Given the description of an element on the screen output the (x, y) to click on. 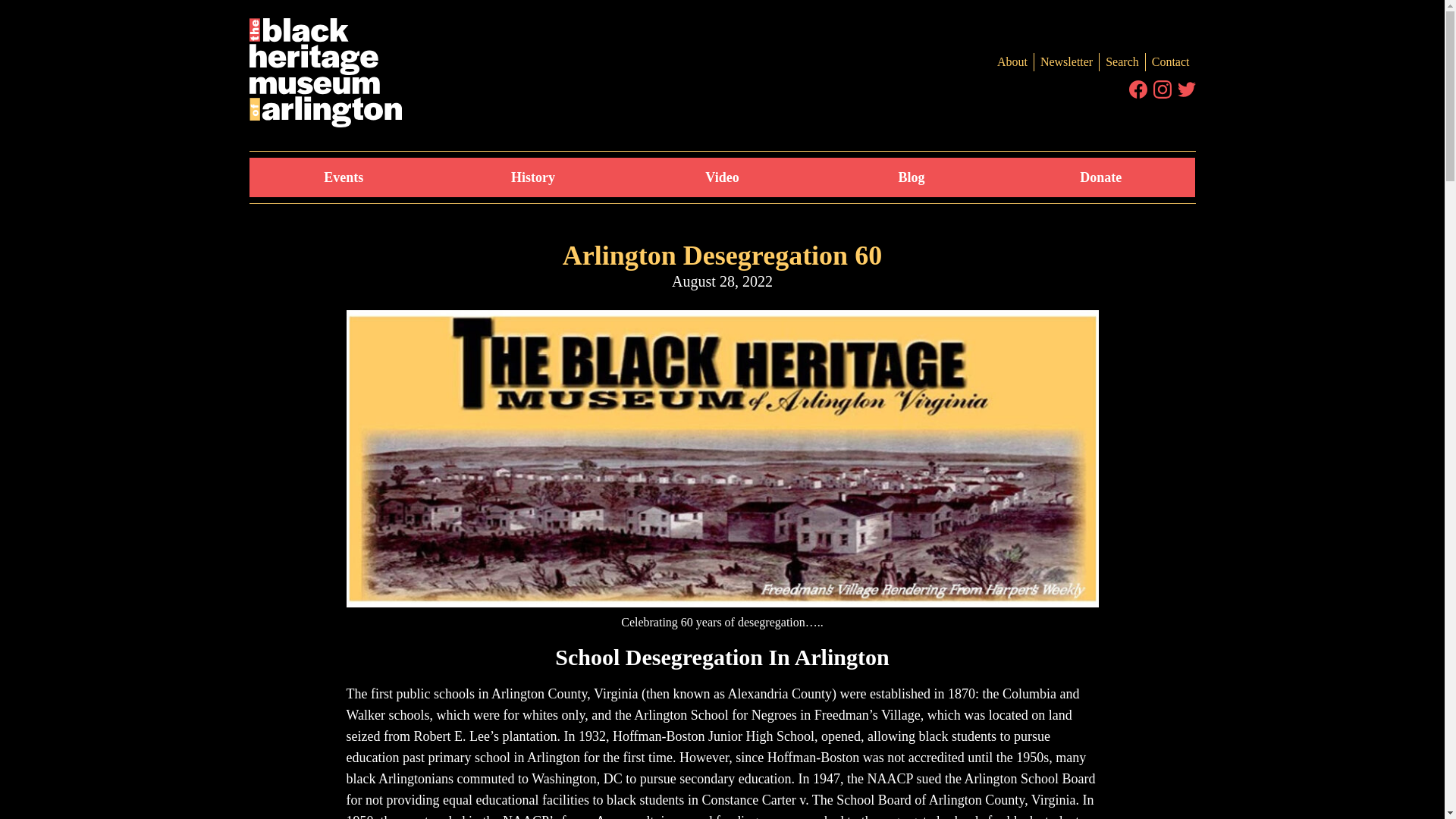
Donate (1100, 177)
History (532, 177)
Newsletter (1066, 62)
Events (343, 177)
Video (721, 177)
Search (1121, 62)
Blog (911, 177)
About (1012, 62)
Contact (1169, 62)
